Given the description of an element on the screen output the (x, y) to click on. 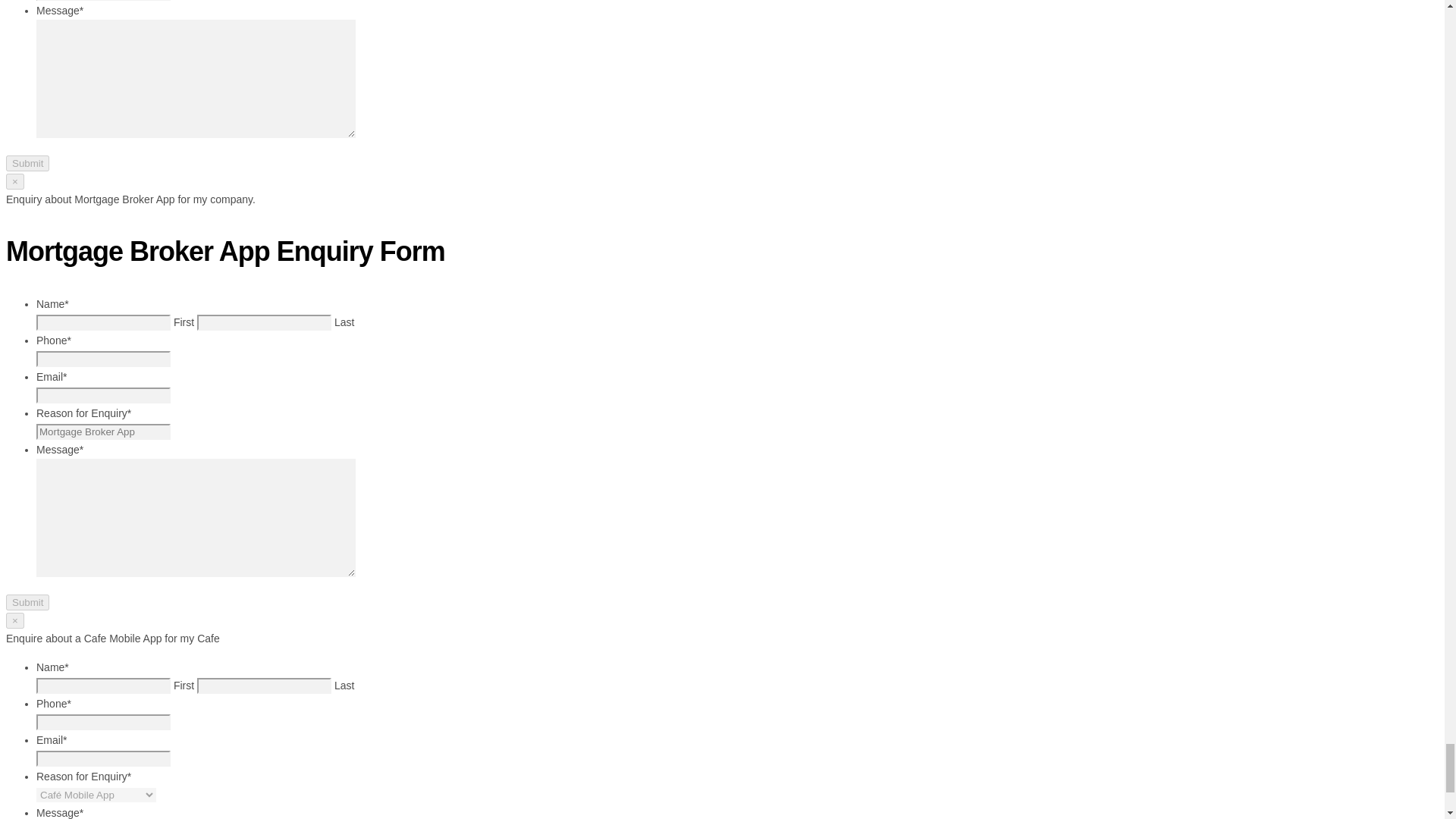
Mortgage Broker App  (103, 431)
Submit (27, 602)
Submit (27, 163)
